Given the description of an element on the screen output the (x, y) to click on. 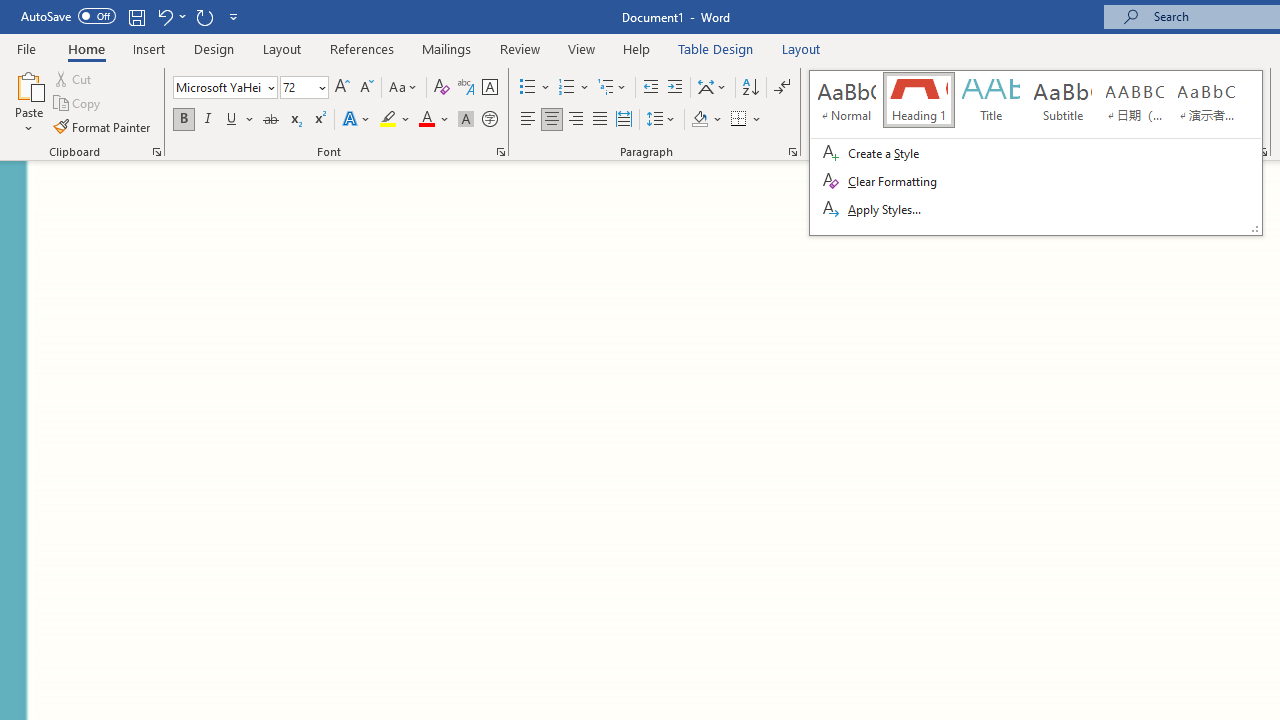
Asian Layout (712, 87)
Superscript (319, 119)
Increase Indent (675, 87)
Distributed (623, 119)
Cut (73, 78)
Decrease Indent (650, 87)
Font... (500, 151)
Enclose Characters... (489, 119)
Align Right (575, 119)
Sort... (750, 87)
Format Painter (103, 126)
